Given the description of an element on the screen output the (x, y) to click on. 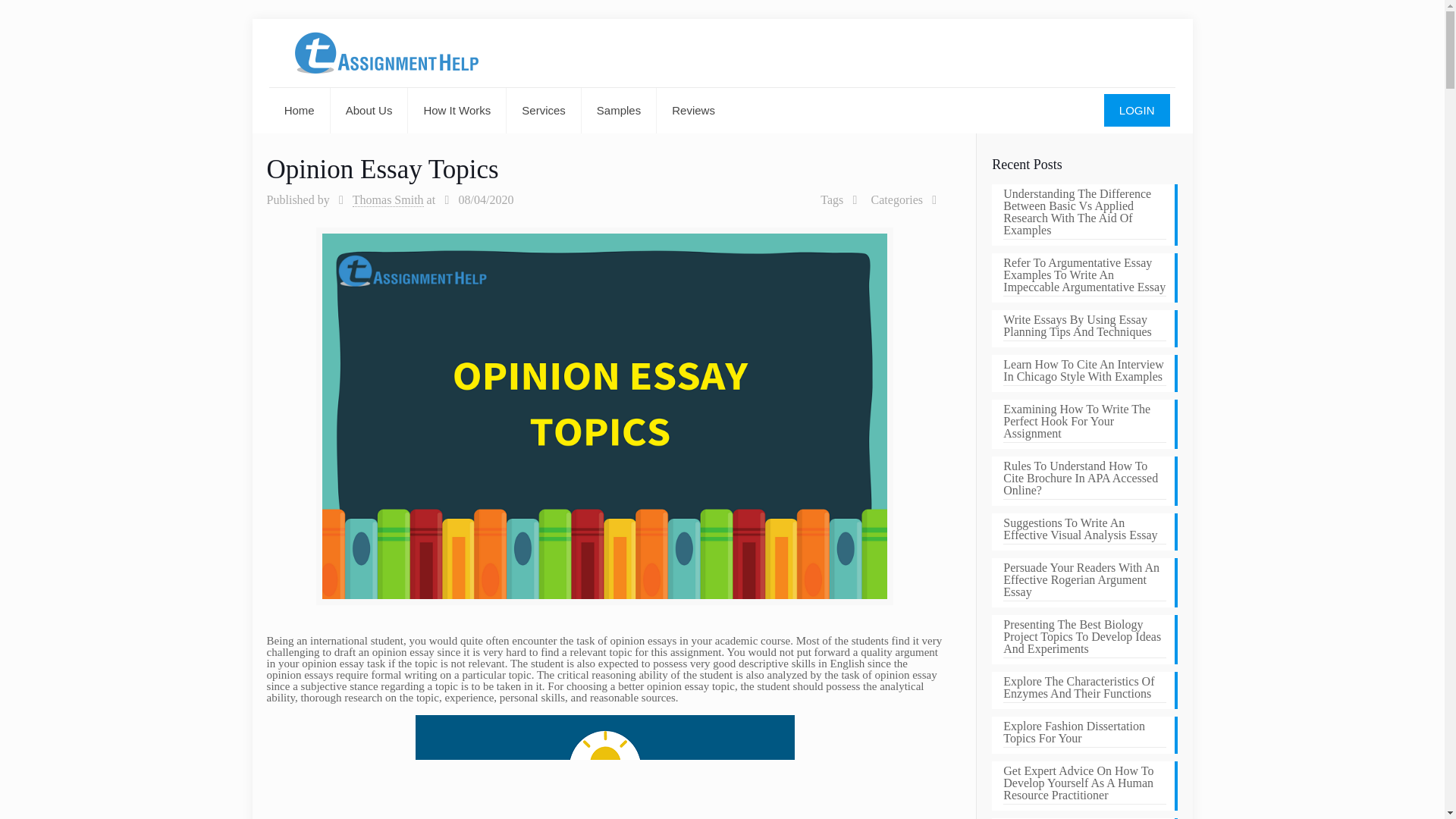
How It Works (456, 110)
LOGIN (1136, 110)
About Us (369, 110)
Samples (618, 110)
Reviews (693, 110)
Home (299, 110)
Services (543, 110)
Thomas Smith (387, 200)
